Given the description of an element on the screen output the (x, y) to click on. 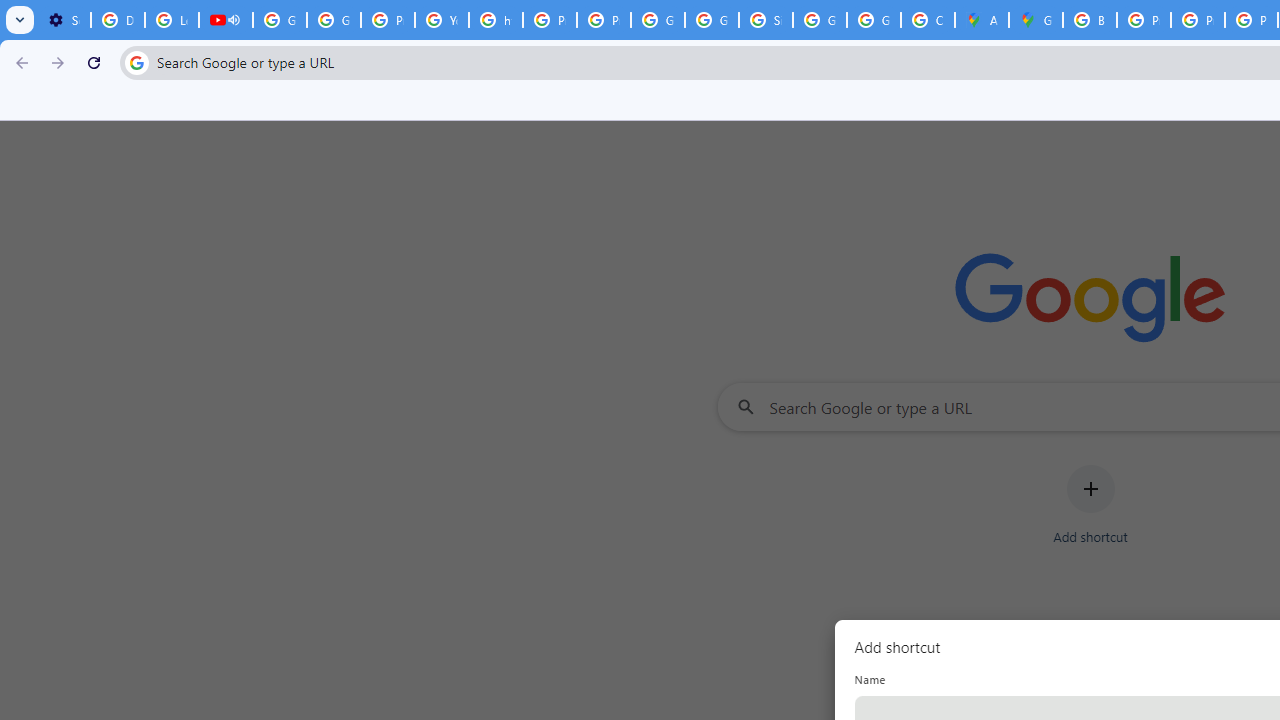
Google Account Help (333, 20)
Delete photos & videos - Computer - Google Photos Help (117, 20)
Mute tab (233, 20)
Privacy Help Center - Policies Help (550, 20)
YouTube (441, 20)
Search icon (136, 62)
Sign in - Google Accounts (765, 20)
Google Maps (1035, 20)
Blogger Policies and Guidelines - Transparency Center (1089, 20)
Settings - Customize profile (63, 20)
Privacy Help Center - Policies Help (387, 20)
Create your Google Account (927, 20)
Google Account Help (280, 20)
